Given the description of an element on the screen output the (x, y) to click on. 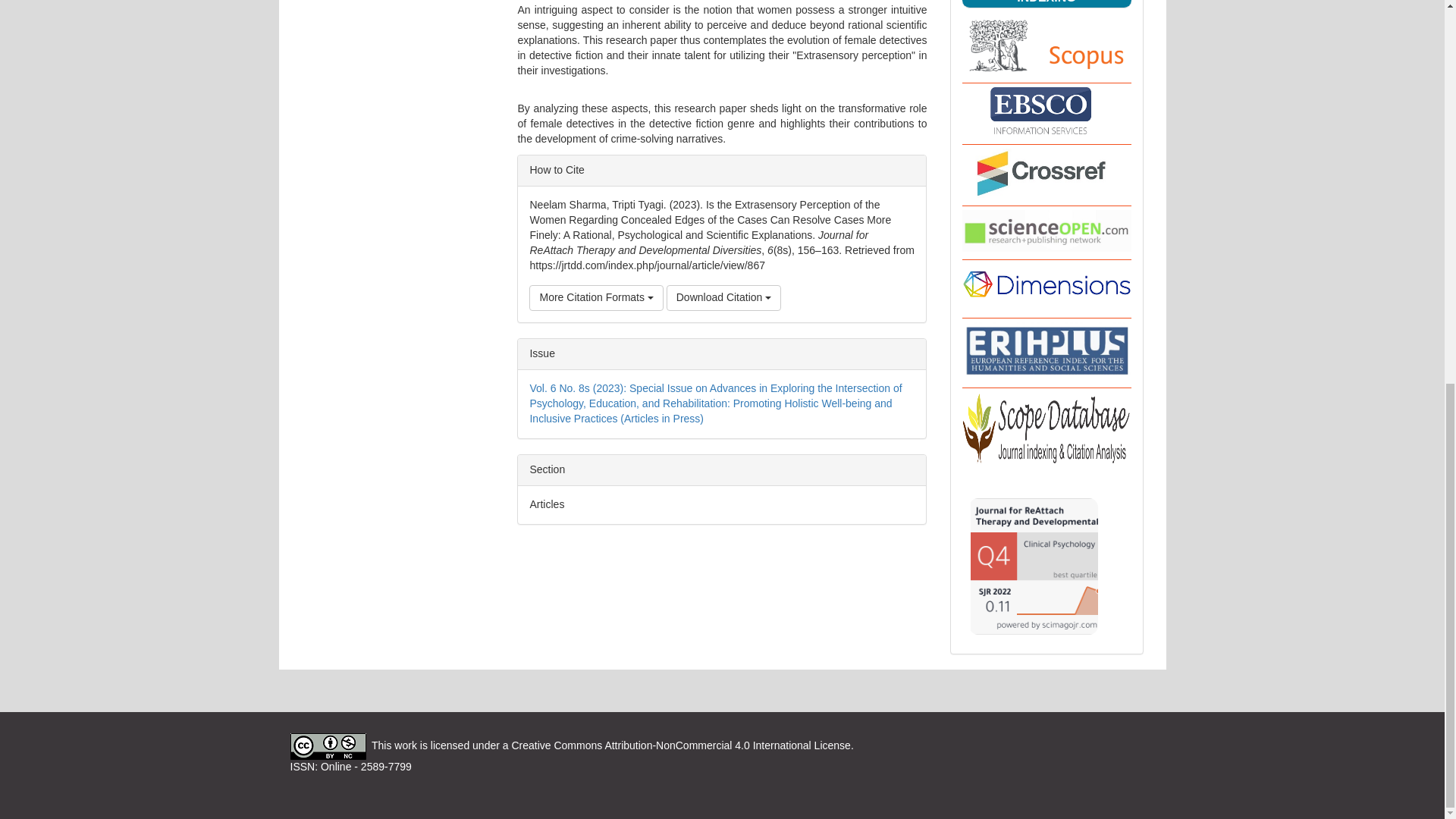
More Citation Formats (595, 298)
Download Citation (723, 298)
